Given the description of an element on the screen output the (x, y) to click on. 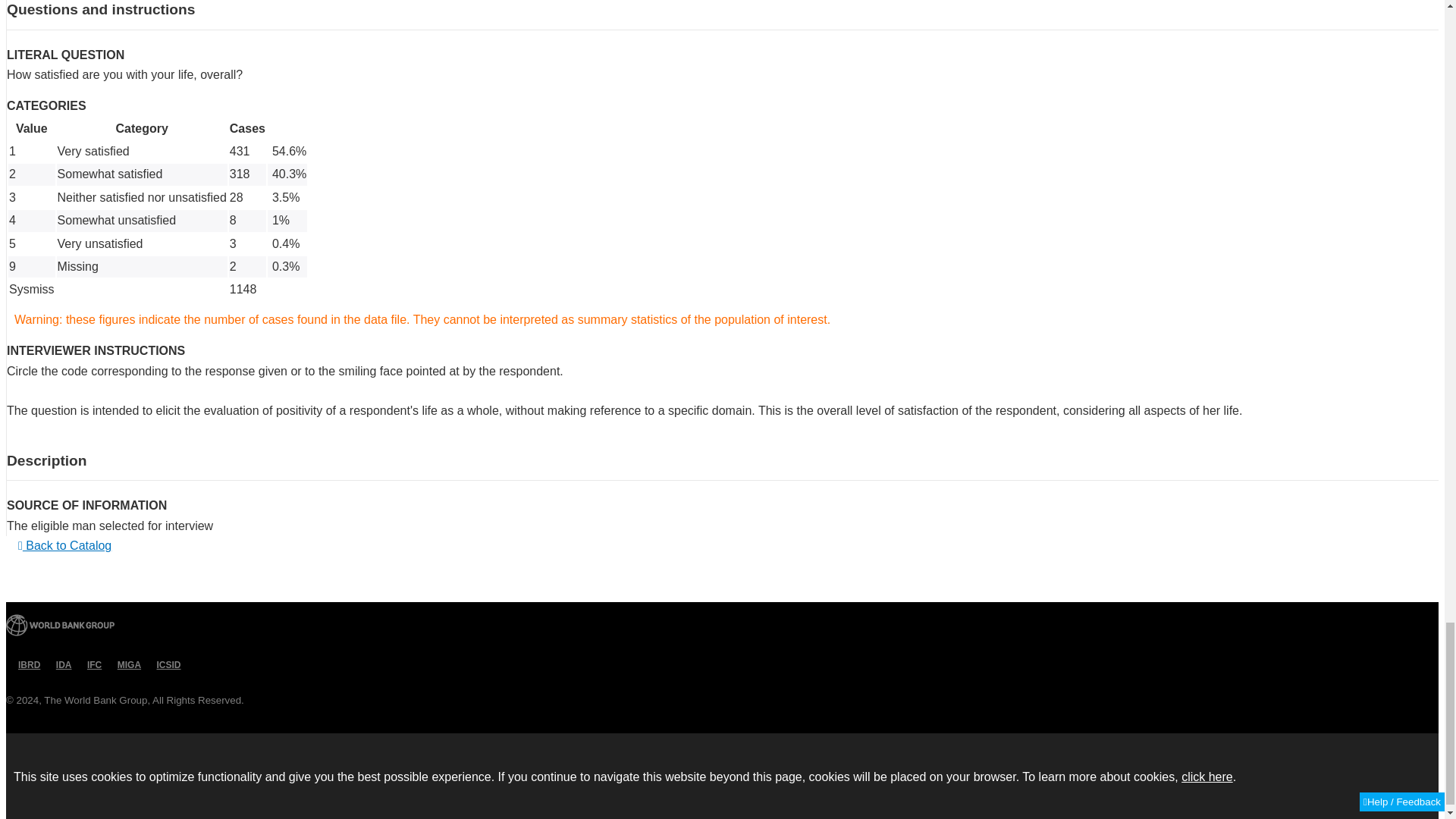
IDA (60, 665)
International Development Association (60, 665)
MIGA (126, 665)
Multilateral Investment Guarantee Agency (126, 665)
IBRD (25, 665)
The World Bank Working for a World Free of Poverty (60, 625)
International Centre for Settlement of Investment Disputes (165, 665)
IFC (91, 665)
International Bank for Reconstruction and Development (25, 665)
Back to Catalog (64, 545)
click here (1206, 776)
ICSID (165, 665)
International Finance Corporation (91, 665)
